Given the description of an element on the screen output the (x, y) to click on. 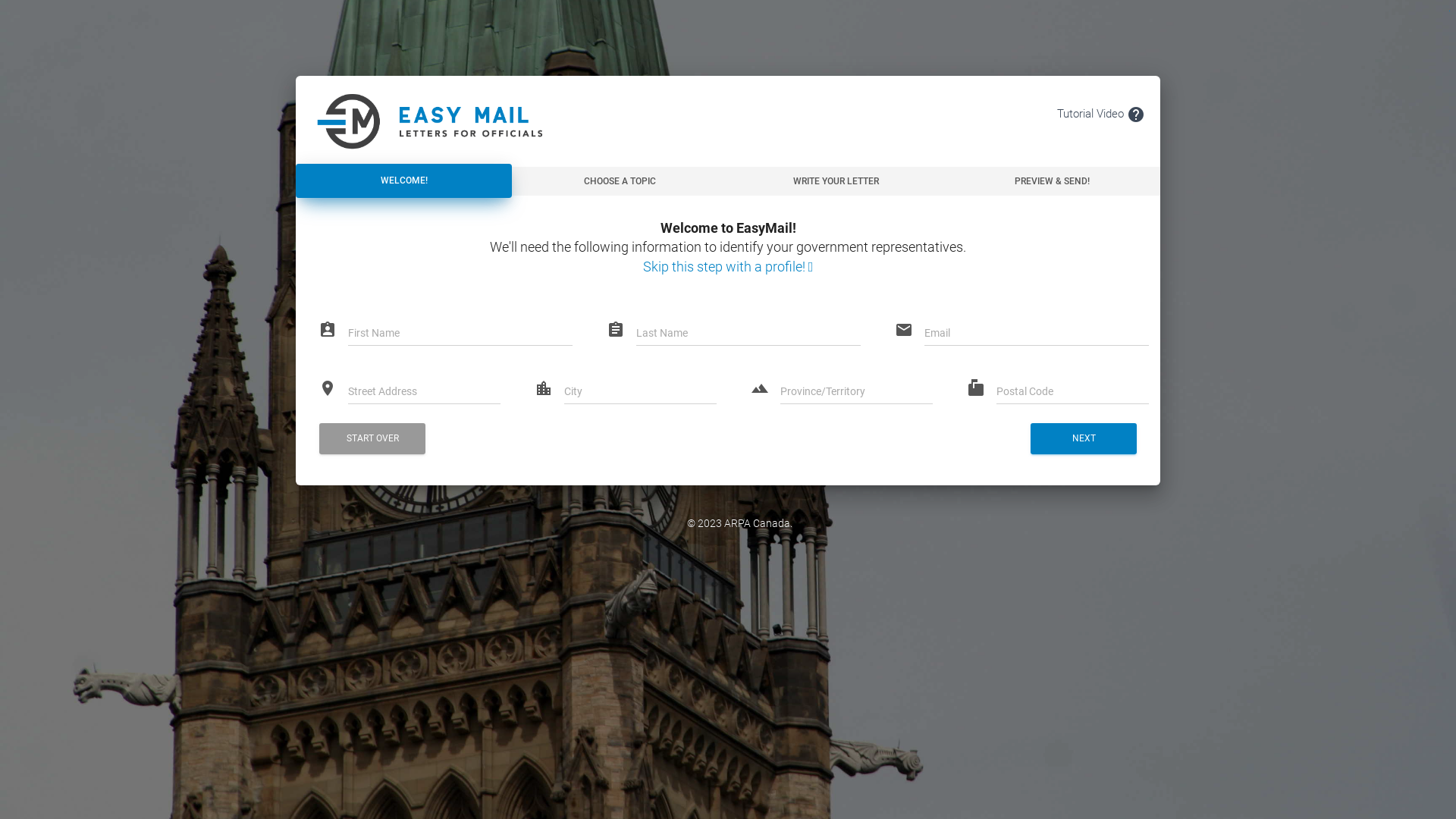
WRITE YOUR LETTER Element type: text (836, 180)
ARPA Canada Element type: text (756, 523)
CHOOSE A TOPIC Element type: text (619, 180)
START OVER Element type: text (372, 438)
Previous Element type: text (53, 15)
Tutorial Video help Element type: text (1101, 113)
WELCOME! Element type: text (403, 180)
NEXT Element type: text (1083, 438)
PREVIEW & SEND! Element type: text (1052, 180)
